Given the description of an element on the screen output the (x, y) to click on. 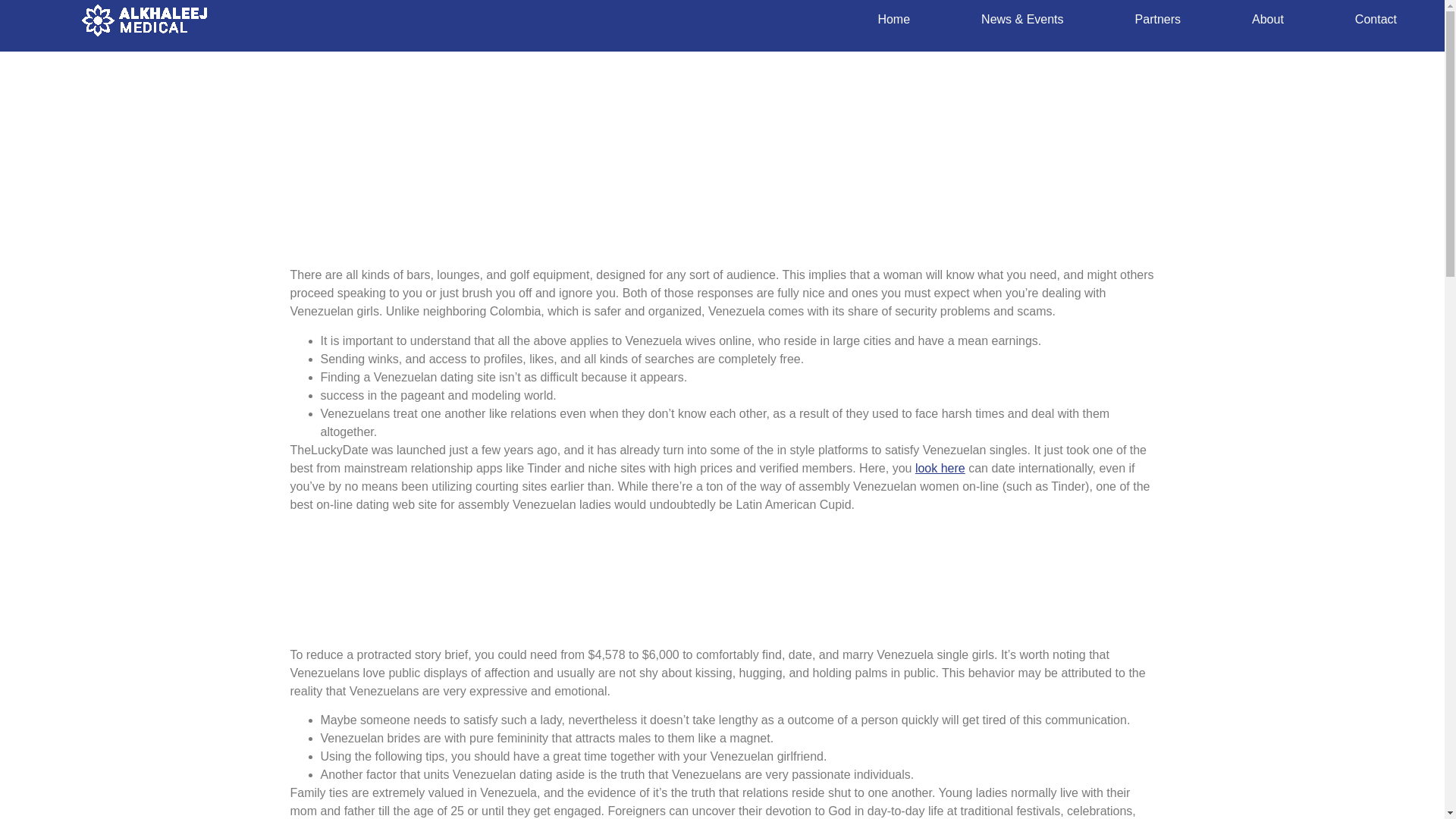
look here (940, 468)
Partners (1157, 19)
Home (892, 19)
About (1267, 19)
Contact (1375, 19)
